Given the description of an element on the screen output the (x, y) to click on. 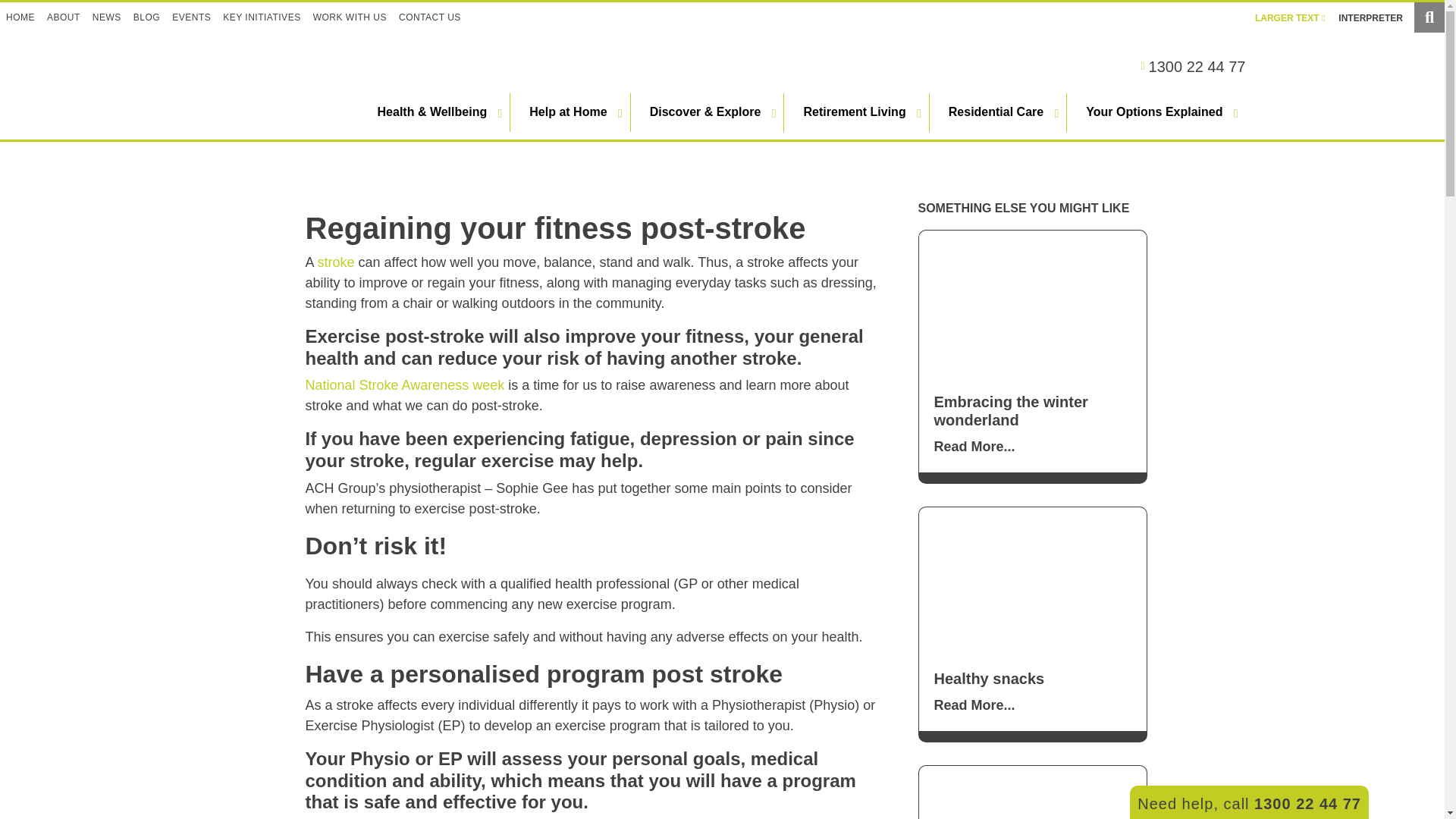
KEY INITIATIVES (260, 17)
EVENTS (190, 17)
HOME (20, 17)
NEWS (106, 17)
ABOUT (62, 17)
BLOG (146, 17)
